Given the description of an element on the screen output the (x, y) to click on. 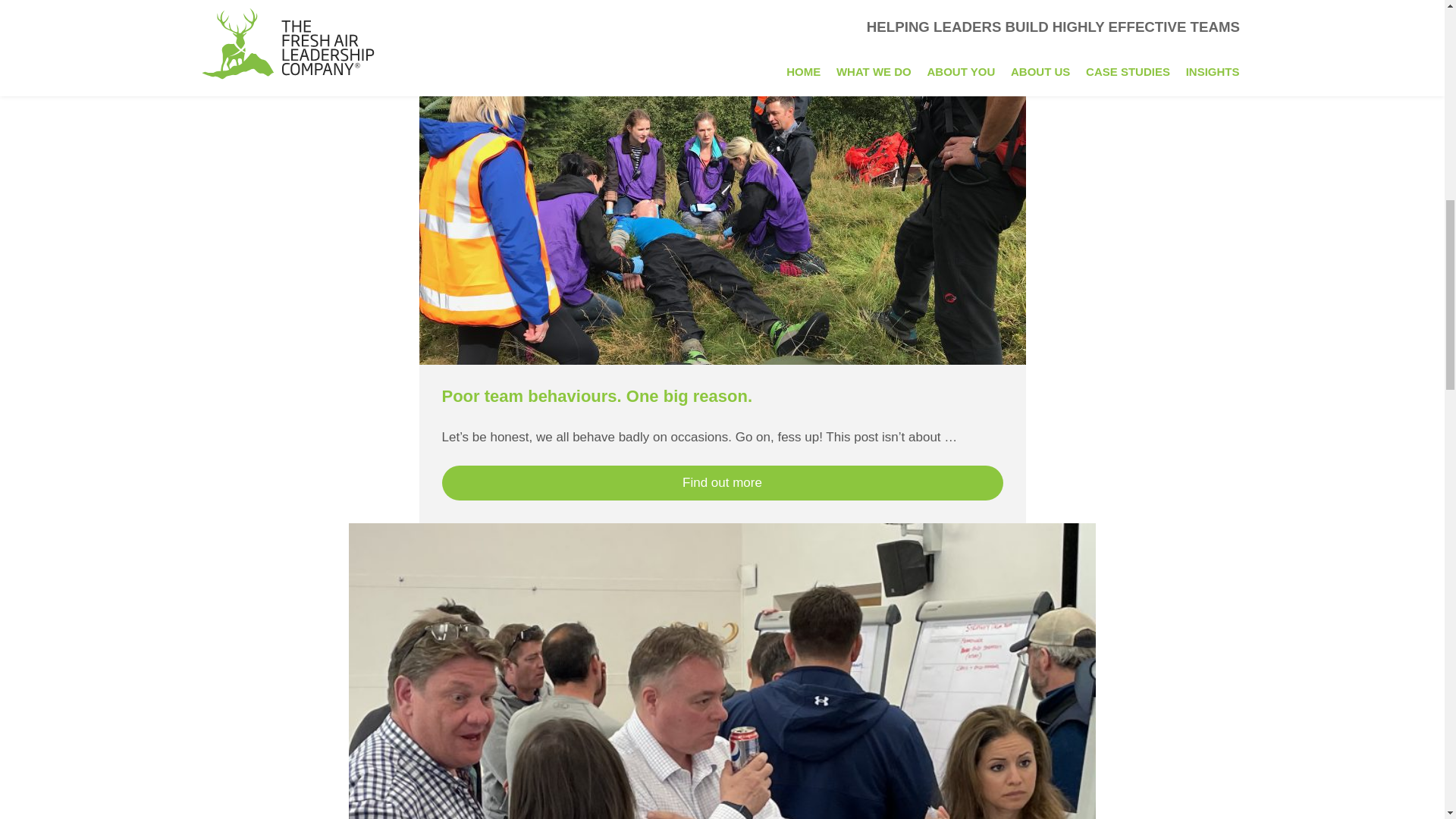
Find out more (722, 483)
Poor team behaviours. One big reason. (596, 395)
